Given the description of an element on the screen output the (x, y) to click on. 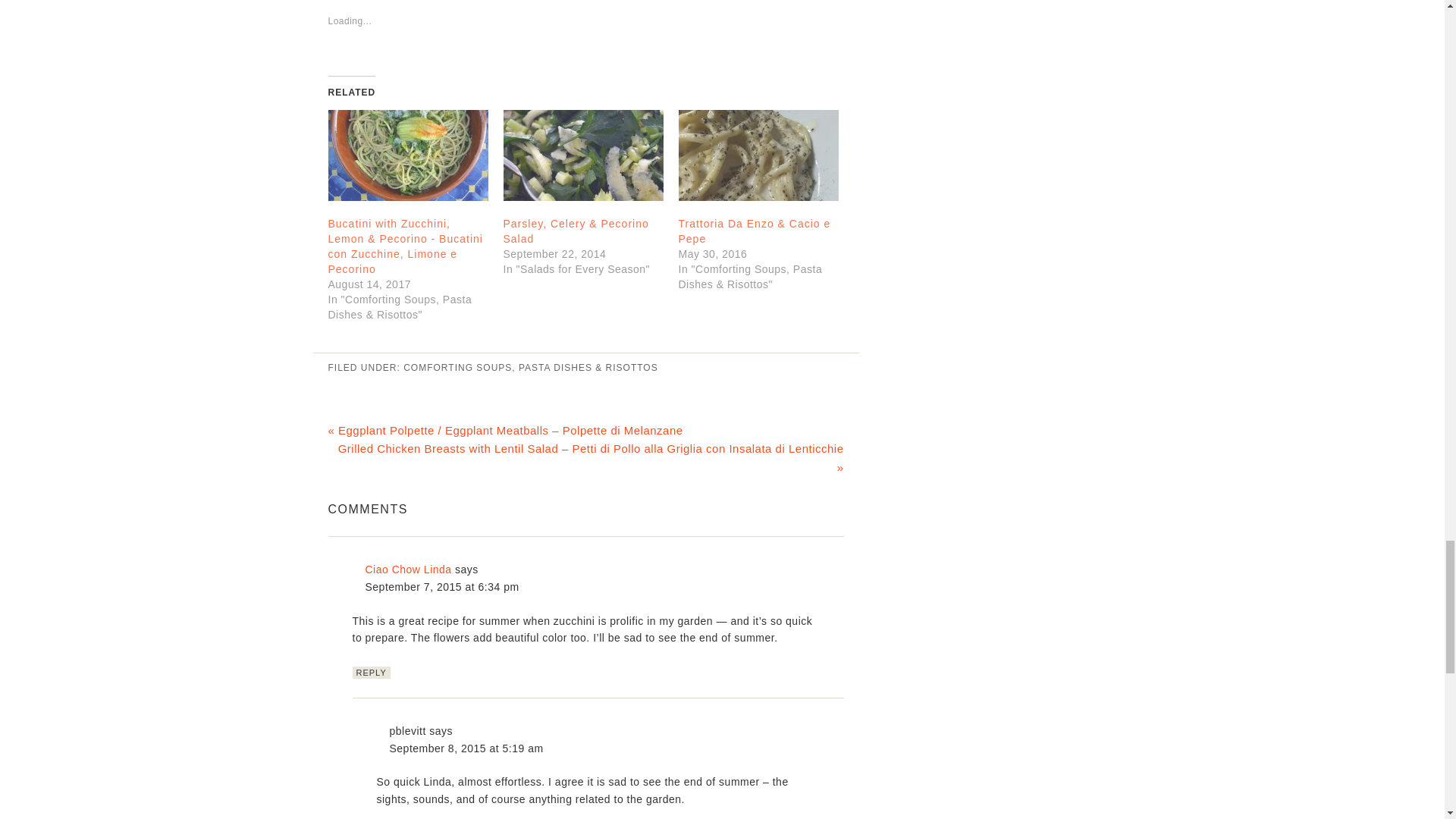
REPLY (371, 672)
Ciao Chow Linda (408, 569)
September 7, 2015 at 6:34 pm (442, 586)
September 8, 2015 at 5:19 am (466, 748)
